Given the description of an element on the screen output the (x, y) to click on. 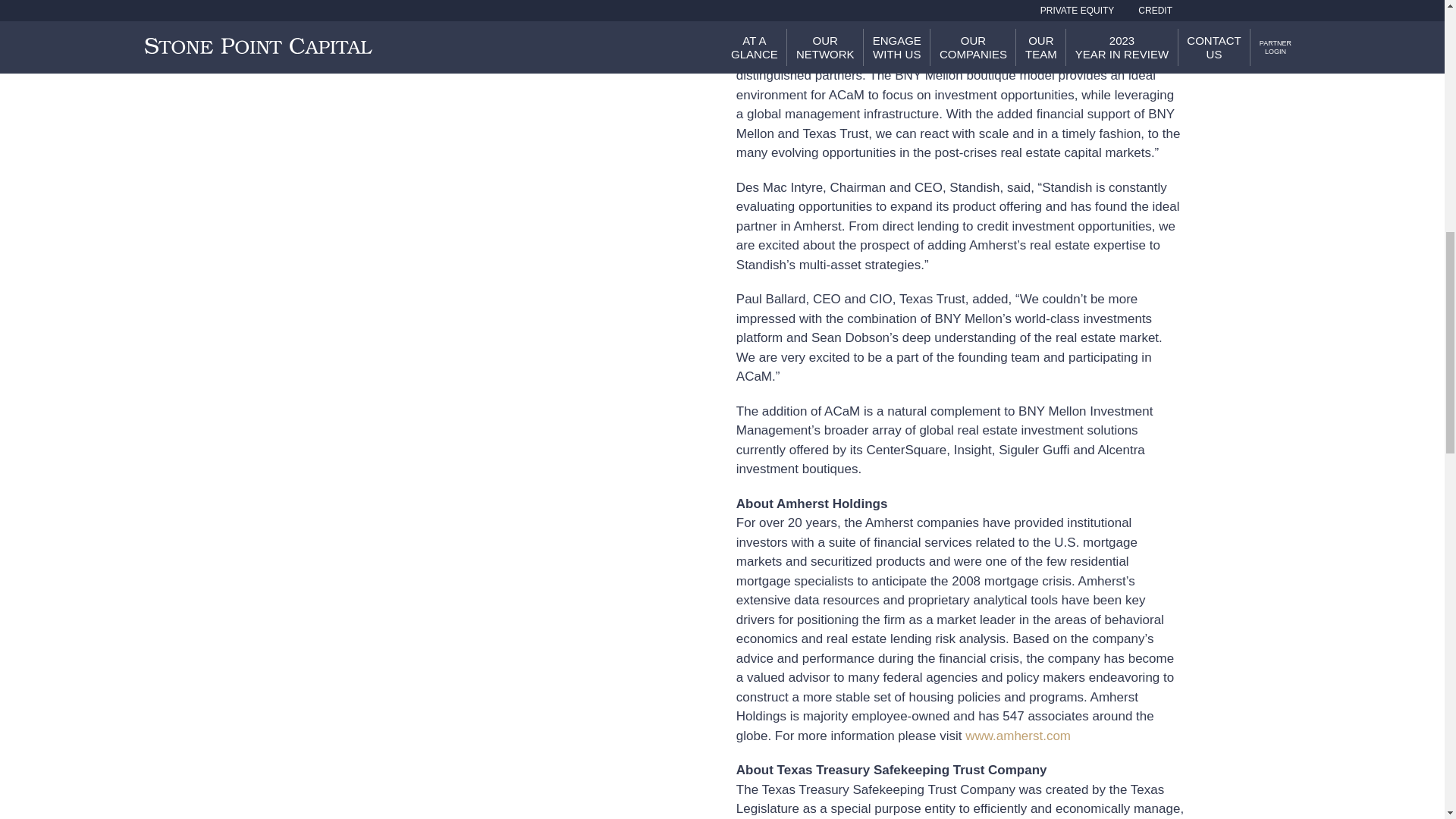
www.amherst.com (1017, 735)
